Given the description of an element on the screen output the (x, y) to click on. 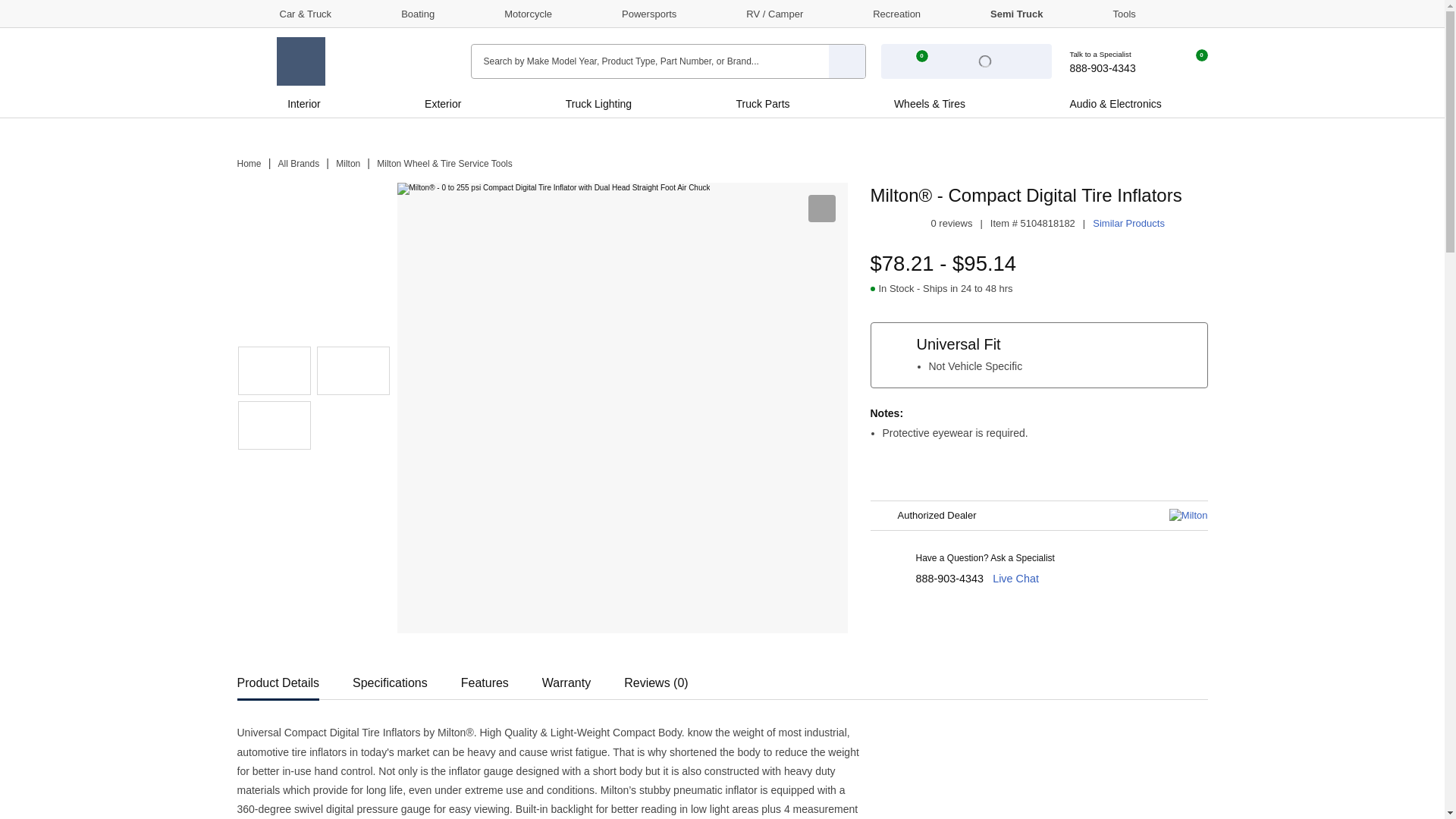
Home (247, 163)
888-903-4343 (1108, 60)
Product Details (276, 678)
All Brands (299, 163)
Boating (403, 13)
Milton Authorized Dealer (274, 425)
Recreation (883, 13)
888-903-4343 (949, 578)
Truck Lighting (598, 103)
Features (484, 678)
